Given the description of an element on the screen output the (x, y) to click on. 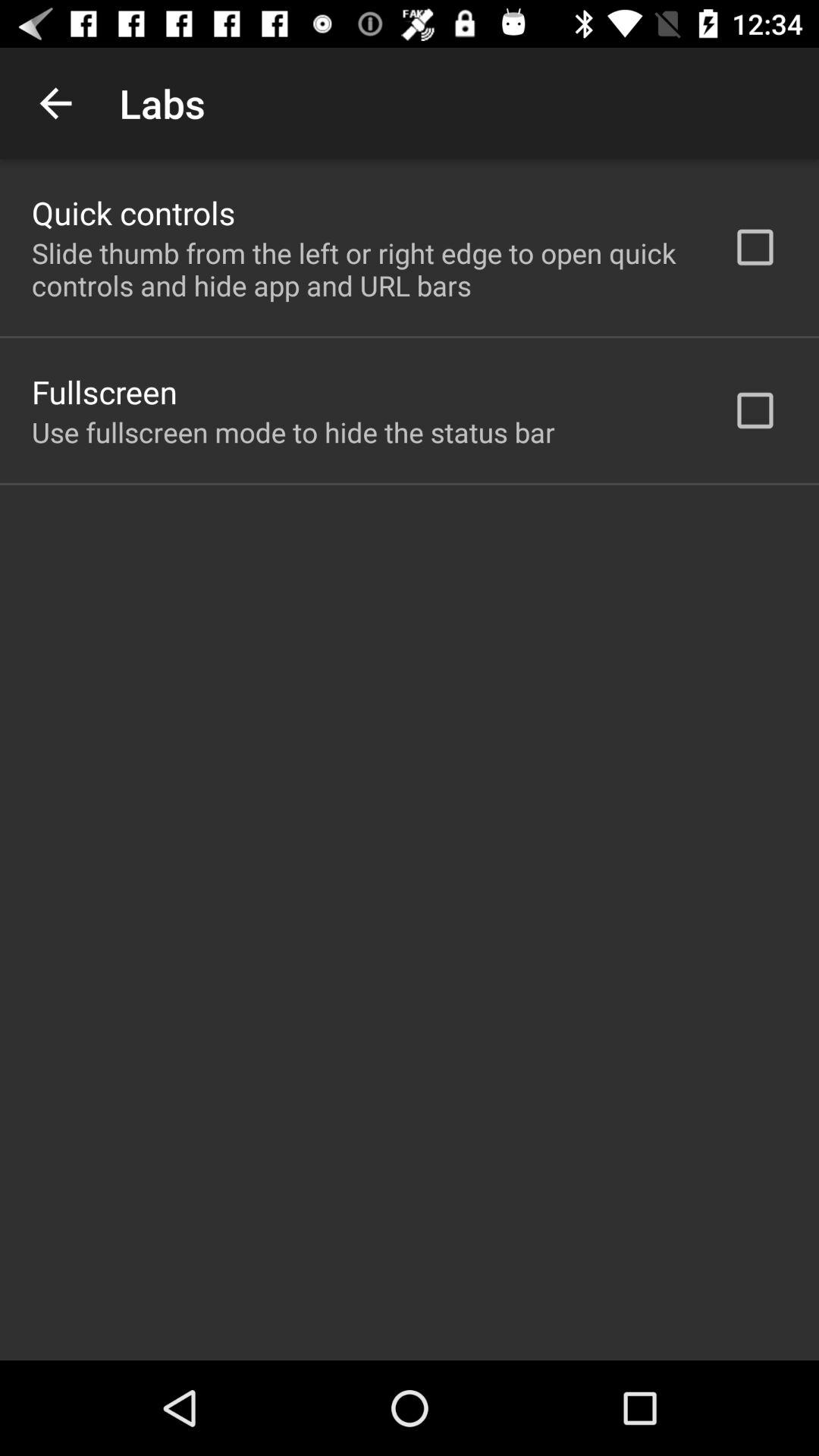
choose icon below the quick controls app (361, 269)
